Given the description of an element on the screen output the (x, y) to click on. 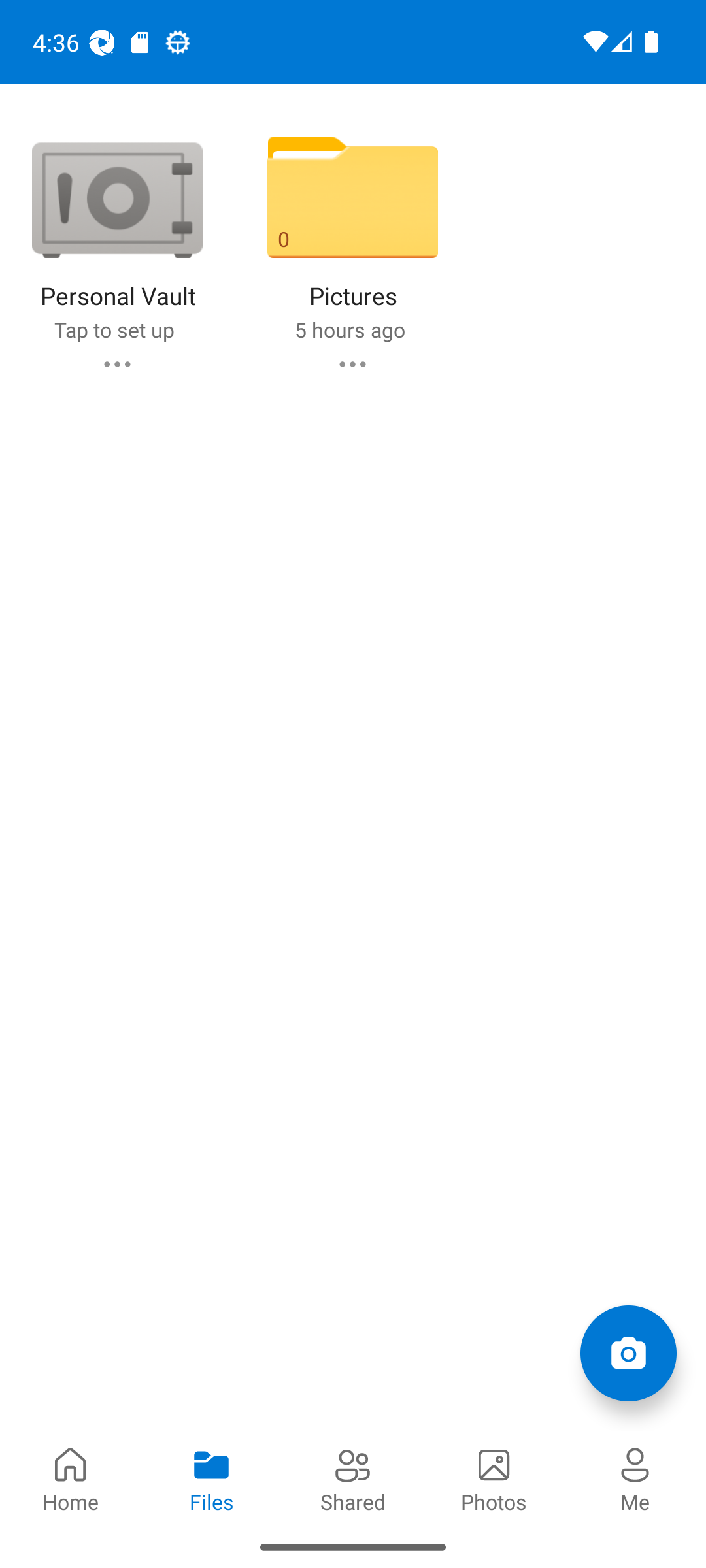
Tap to set up (113, 329)
5 hours ago (349, 329)
Personal Vault commands (116, 363)
Pictures commands (352, 363)
Add items Scan (628, 1352)
Home pivot Home (70, 1478)
Shared pivot Shared (352, 1478)
Photos pivot Photos (493, 1478)
Me pivot Me (635, 1478)
